Given the description of an element on the screen output the (x, y) to click on. 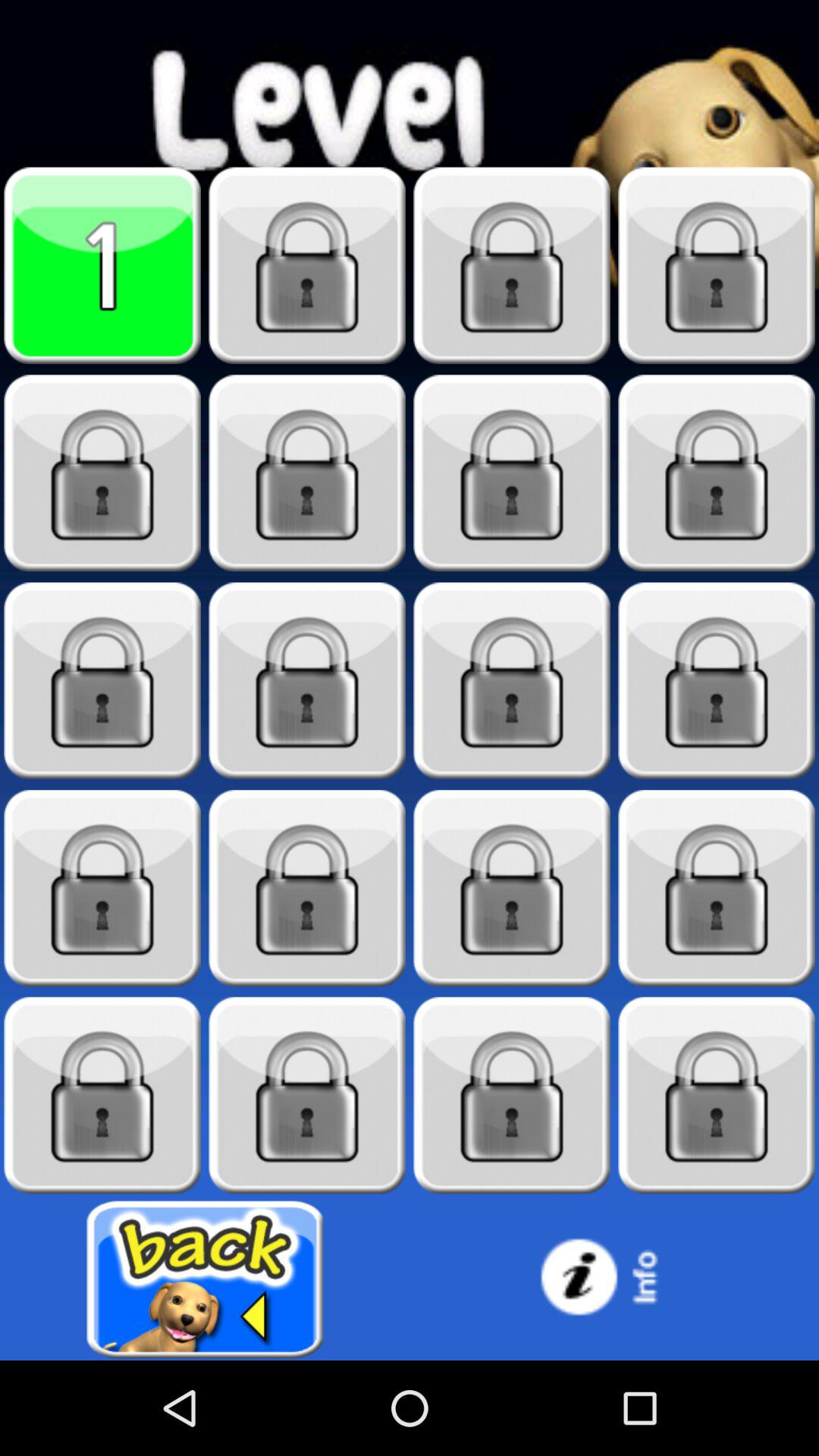
pick locked icon (511, 887)
